Given the description of an element on the screen output the (x, y) to click on. 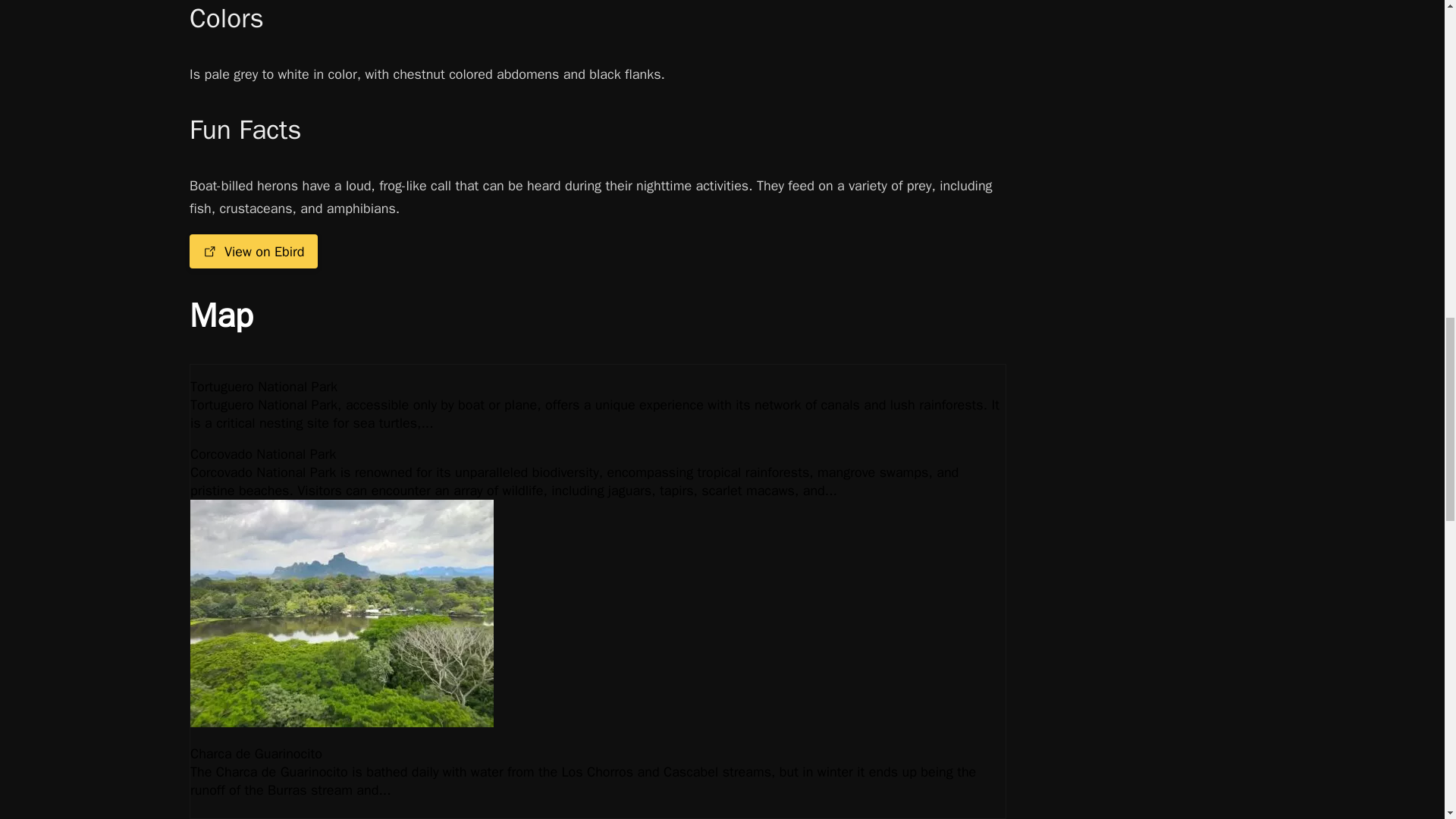
View on Ebird (253, 251)
